Given the description of an element on the screen output the (x, y) to click on. 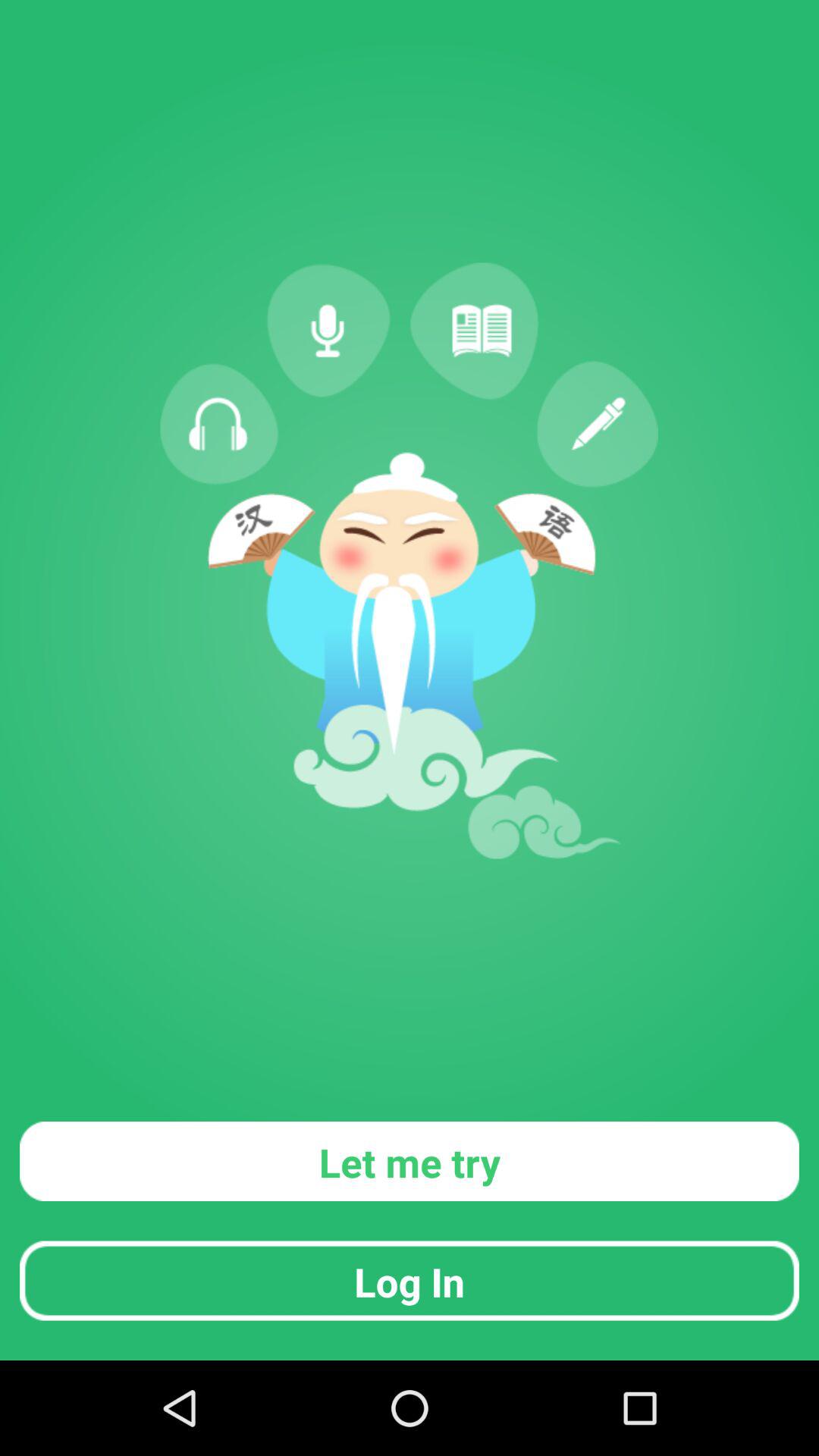
jump until let me try icon (409, 1161)
